Given the description of an element on the screen output the (x, y) to click on. 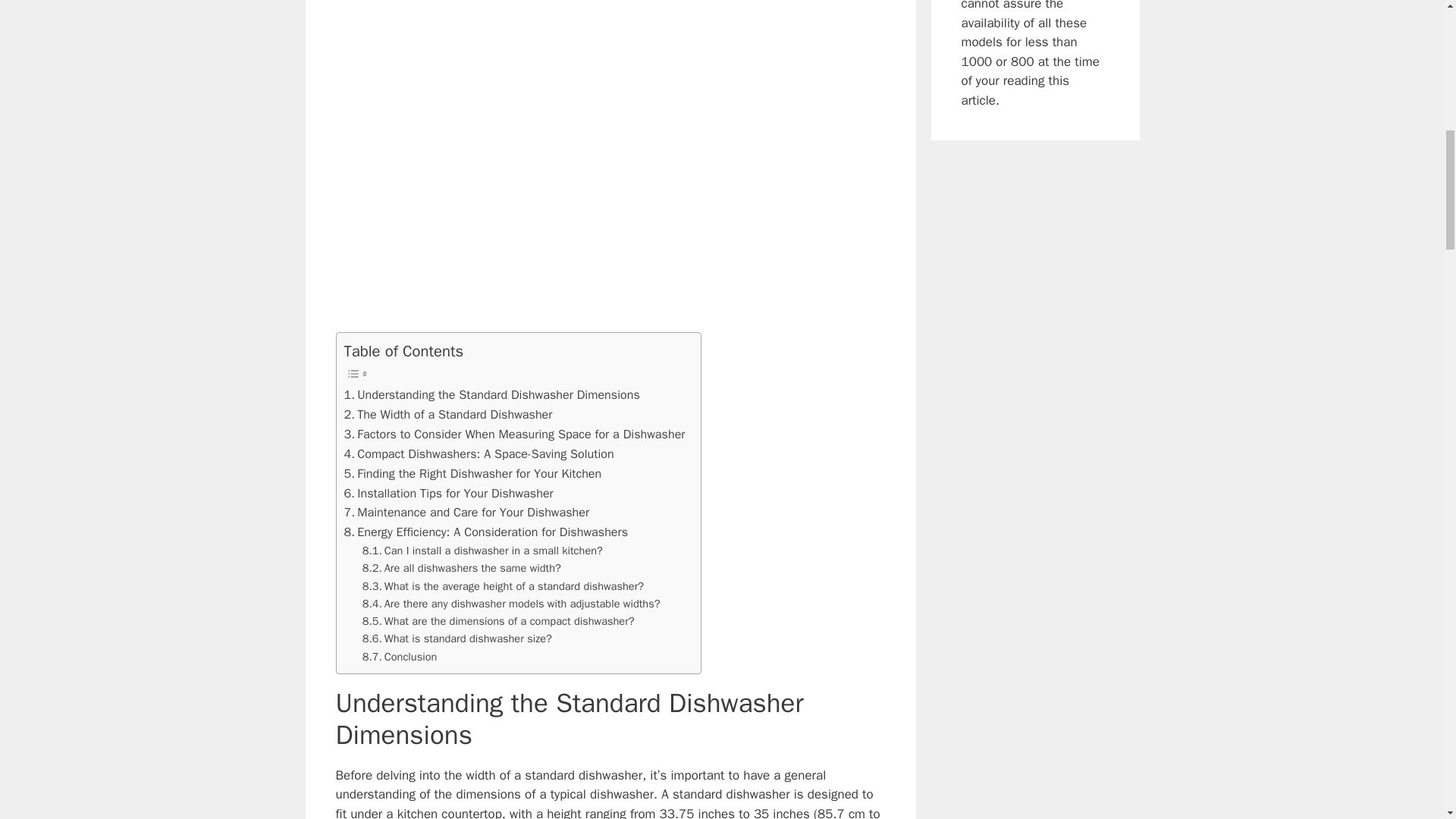
Understanding the Standard Dishwasher Dimensions (491, 394)
Compact Dishwashers: A Space-Saving Solution (478, 454)
The Width of a Standard Dishwasher (448, 414)
Are all dishwashers the same width? (461, 568)
Energy Efficiency: A Consideration for Dishwashers (485, 532)
What is standard dishwasher size? (456, 638)
Maintenance and Care for Your Dishwasher (466, 512)
Energy Efficiency: A Consideration for Dishwashers (485, 532)
Conclusion (400, 656)
Finding the Right Dishwasher for Your Kitchen (472, 474)
Are there any dishwasher models with adjustable widths? (511, 603)
Maintenance and Care for Your Dishwasher (466, 512)
What is the average height of a standard dishwasher? (502, 586)
Finding the Right Dishwasher for Your Kitchen (472, 474)
